Given the description of an element on the screen output the (x, y) to click on. 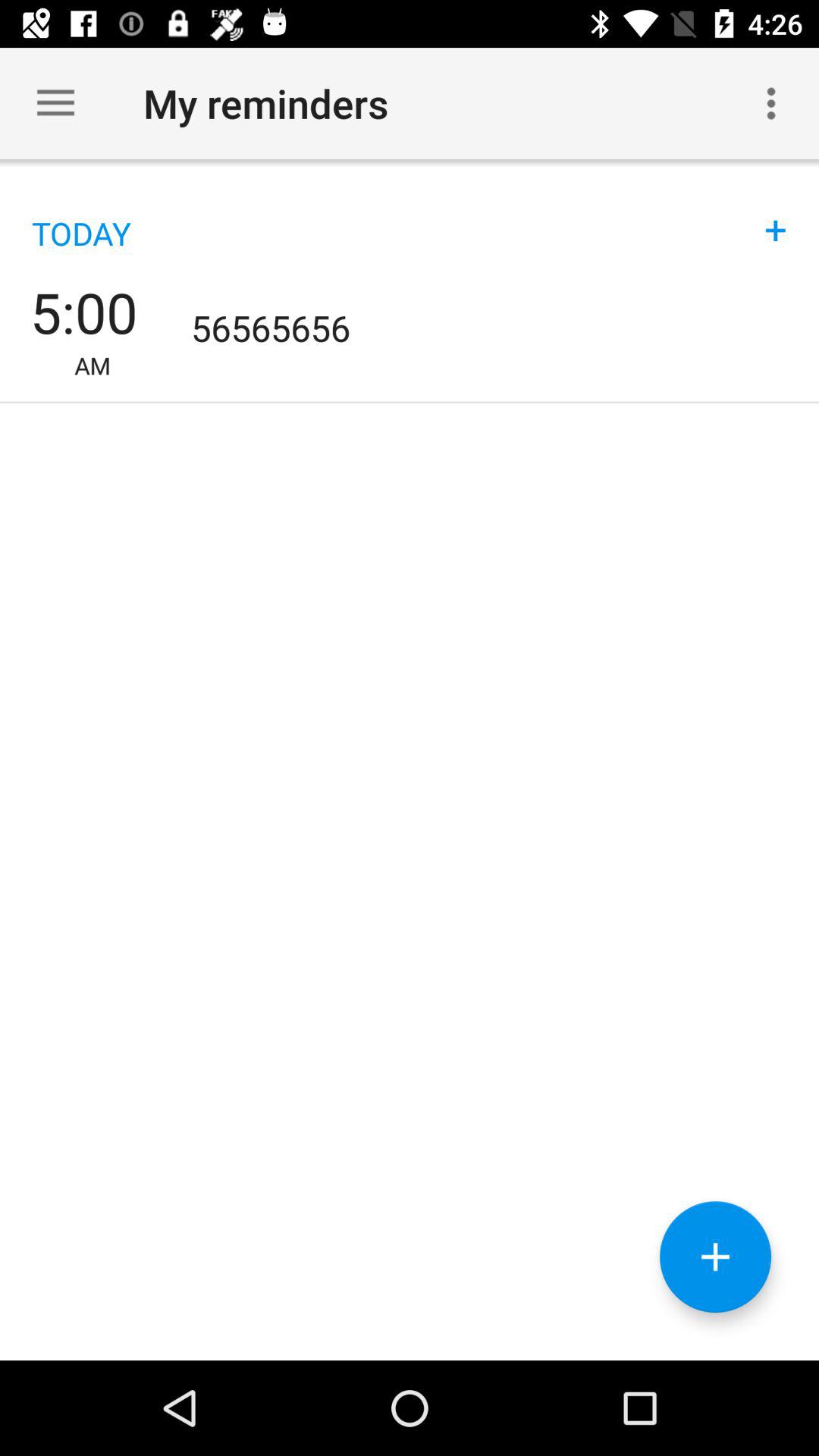
press item next to the today icon (775, 214)
